Given the description of an element on the screen output the (x, y) to click on. 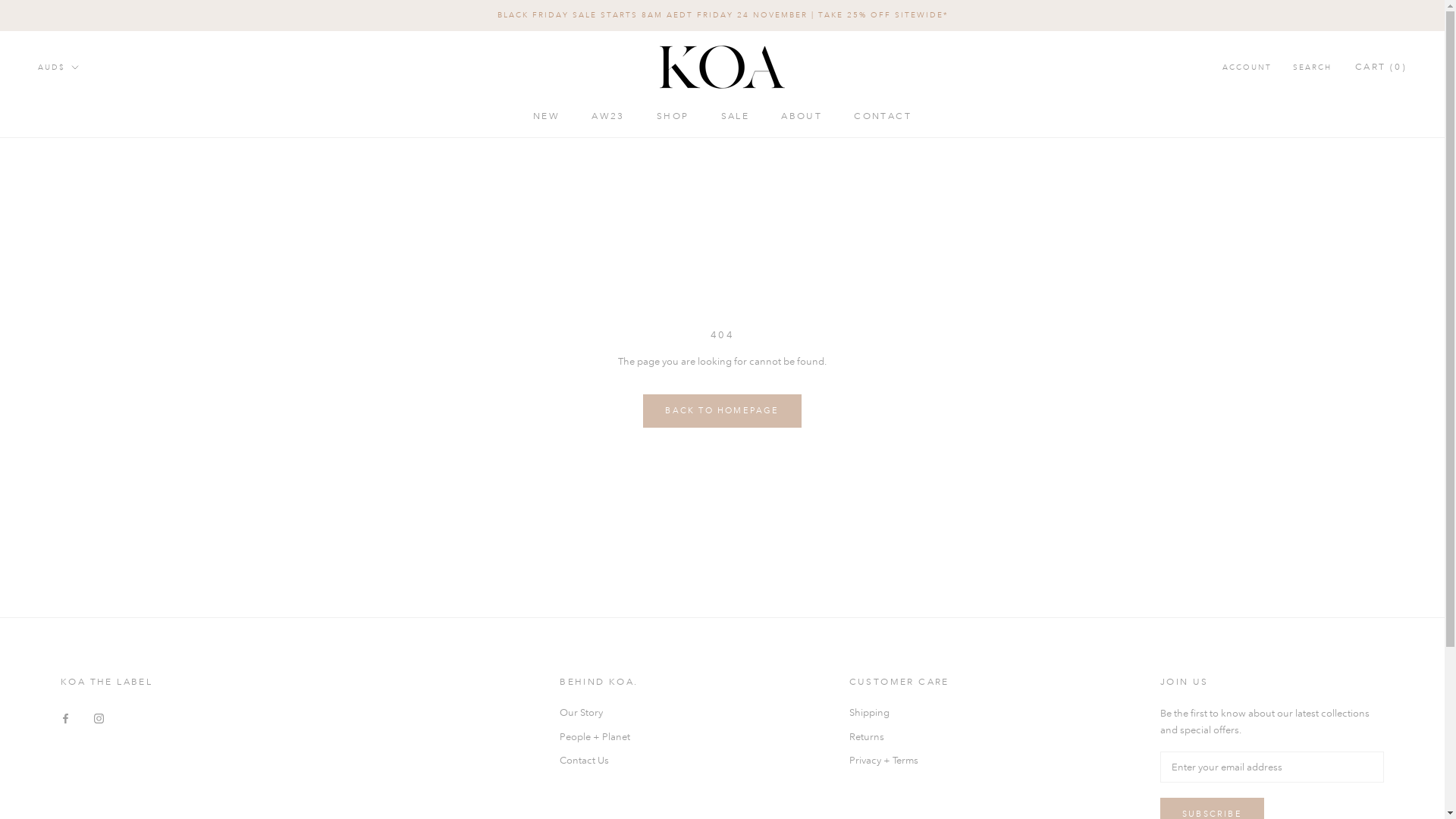
BIF Element type: text (84, 339)
BGN Element type: text (84, 320)
AZN Element type: text (84, 239)
AUD$ Element type: text (57, 67)
GBP Element type: text (84, 781)
GMD Element type: text (84, 802)
BBD Element type: text (84, 279)
FJD Element type: text (84, 741)
DJF Element type: text (84, 601)
BWP Element type: text (84, 420)
SALE
SALE Element type: text (734, 116)
AMD Element type: text (84, 159)
CNY Element type: text (84, 521)
EGP Element type: text (84, 681)
BND Element type: text (84, 360)
AED Element type: text (84, 98)
SEARCH Element type: text (1311, 67)
Returns Element type: text (899, 736)
CART (0) Element type: text (1380, 66)
AFN Element type: text (84, 119)
CONTACT
CONTACT Element type: text (882, 116)
BOB Element type: text (84, 380)
SHOP Element type: text (672, 116)
ANG Element type: text (84, 179)
AUD Element type: text (84, 199)
AW23
AW23 Element type: text (607, 116)
BZD Element type: text (84, 440)
Shipping Element type: text (899, 712)
ETB Element type: text (84, 701)
CAD Element type: text (84, 460)
People + Planet Element type: text (598, 736)
BDT Element type: text (84, 299)
DKK Element type: text (84, 621)
DOP Element type: text (84, 641)
CDF Element type: text (84, 480)
DZD Element type: text (84, 661)
BAM Element type: text (84, 259)
ABOUT Element type: text (801, 116)
BACK TO HOMEPAGE Element type: text (721, 410)
BSD Element type: text (84, 400)
CVE Element type: text (84, 561)
CZK Element type: text (84, 581)
FKP Element type: text (84, 762)
CHF Element type: text (84, 500)
ALL Element type: text (84, 138)
NEW
NEW Element type: text (546, 116)
Privacy + Terms Element type: text (899, 760)
ACCOUNT Element type: text (1246, 67)
AWG Element type: text (84, 219)
CRC Element type: text (84, 540)
Contact Us Element type: text (598, 760)
EUR Element type: text (84, 722)
Our Story Element type: text (598, 712)
